Given the description of an element on the screen output the (x, y) to click on. 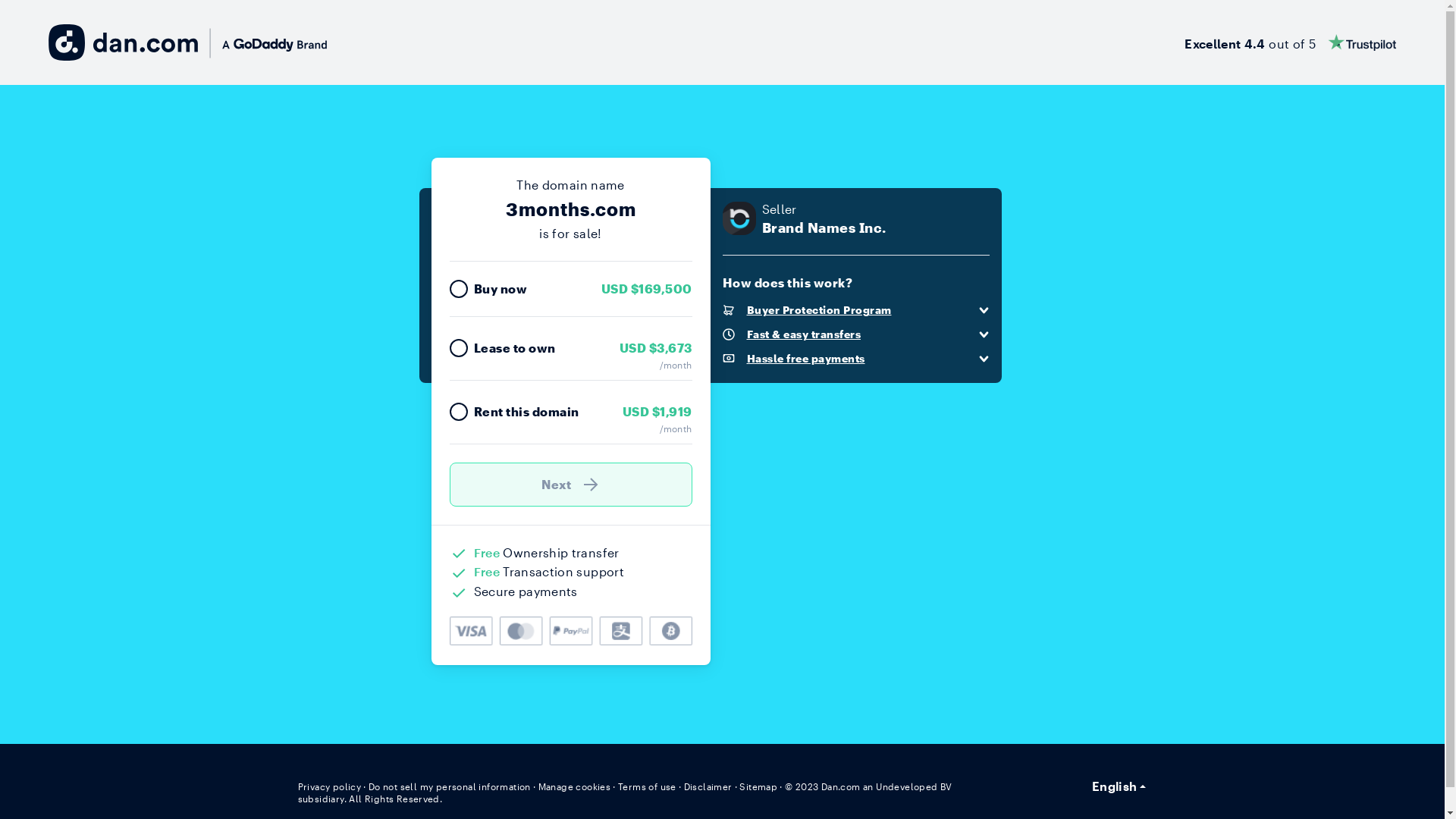
Excellent 4.4 out of 5 Element type: text (1290, 42)
Sitemap Element type: text (758, 786)
Do not sell my personal information Element type: text (449, 786)
Terms of use Element type: text (647, 786)
Privacy policy Element type: text (328, 786)
English Element type: text (1119, 786)
Manage cookies Element type: text (574, 786)
Disclaimer Element type: text (708, 786)
Next
) Element type: text (569, 484)
